Given the description of an element on the screen output the (x, y) to click on. 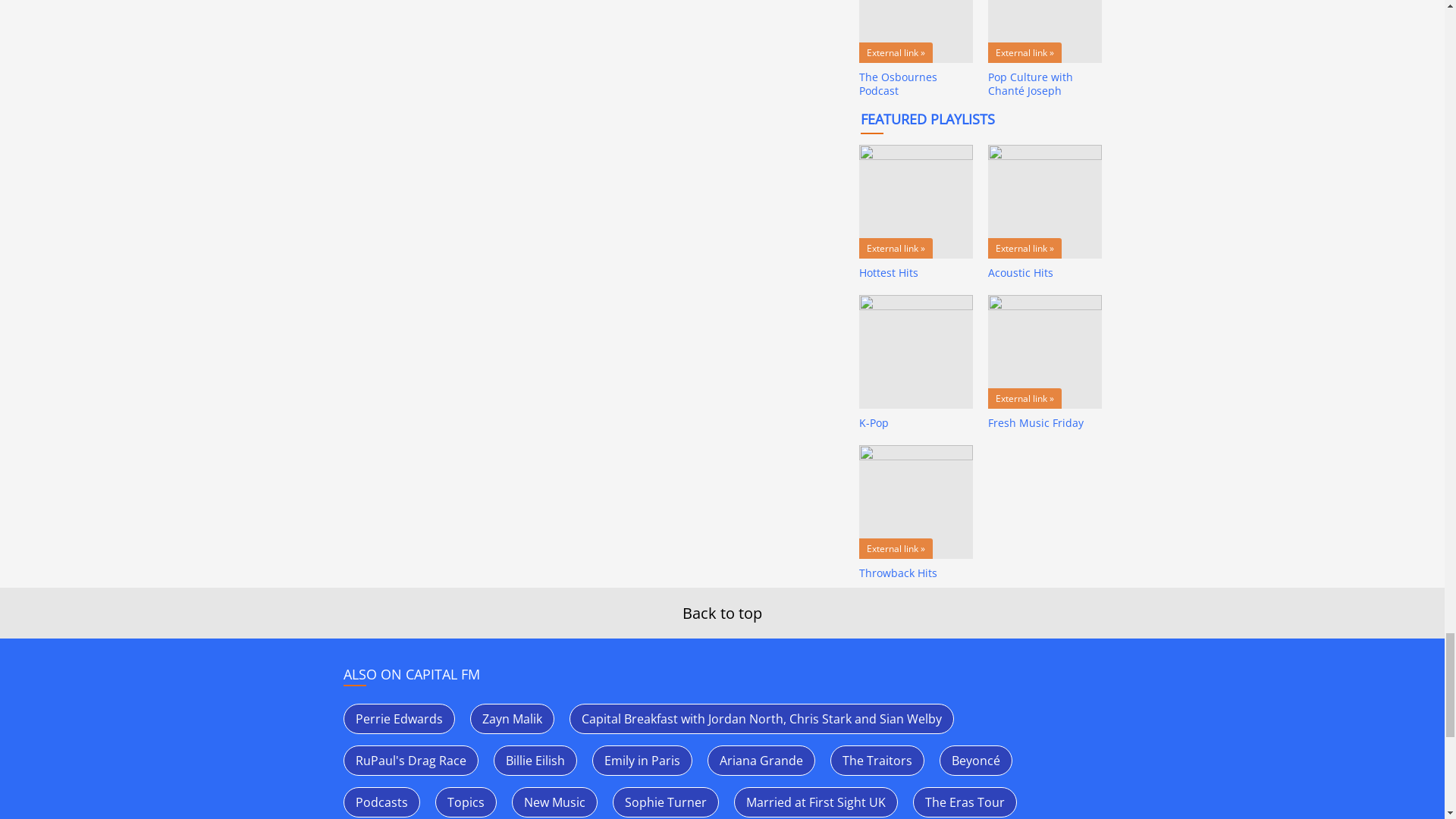
Back to top (721, 612)
